Given the description of an element on the screen output the (x, y) to click on. 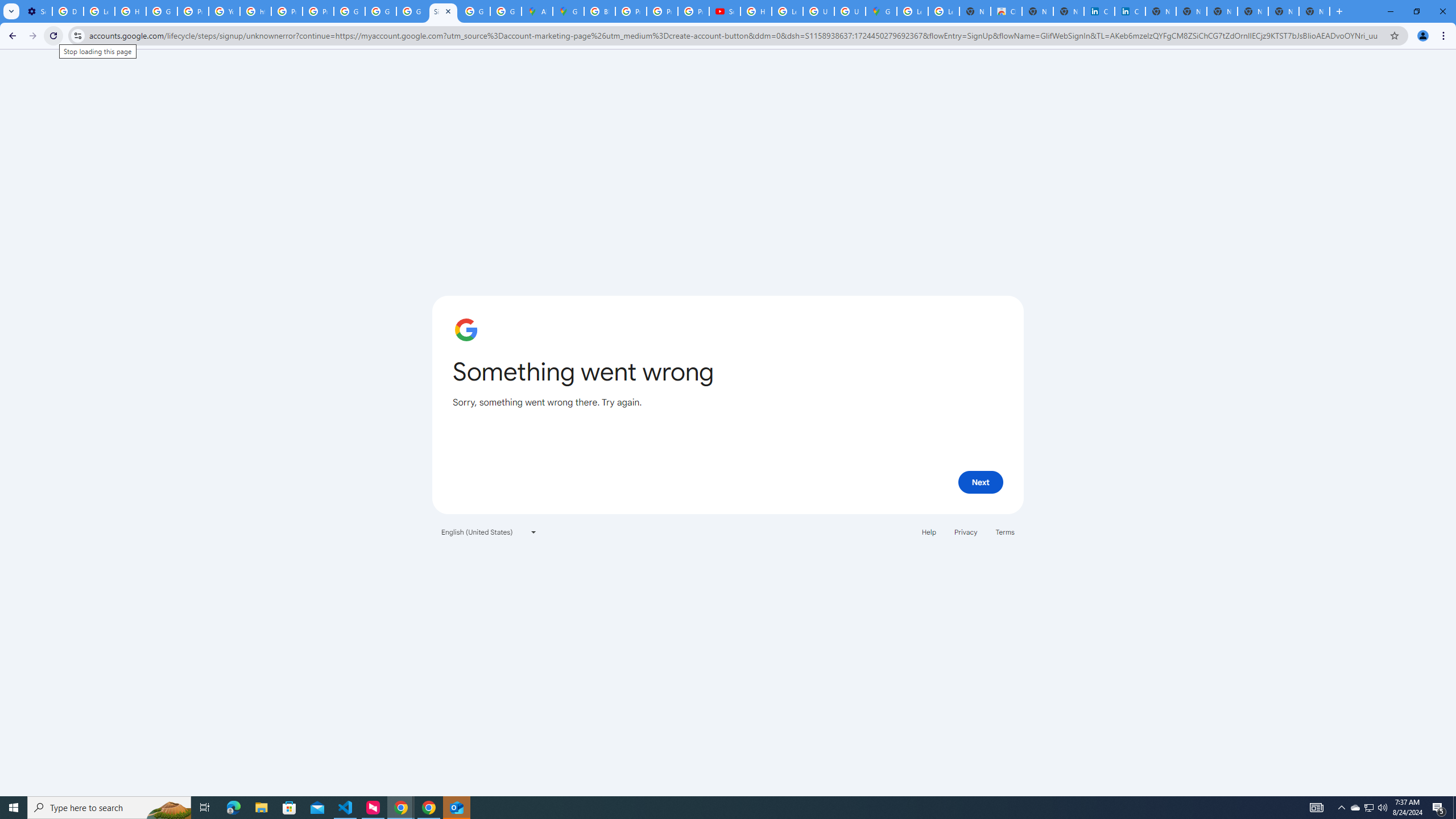
Google Maps (881, 11)
Privacy Help Center - Policies Help (631, 11)
Learn how to find your photos - Google Photos Help (98, 11)
Sign in - Google Accounts (443, 11)
Delete photos & videos - Computer - Google Photos Help (67, 11)
